Given the description of an element on the screen output the (x, y) to click on. 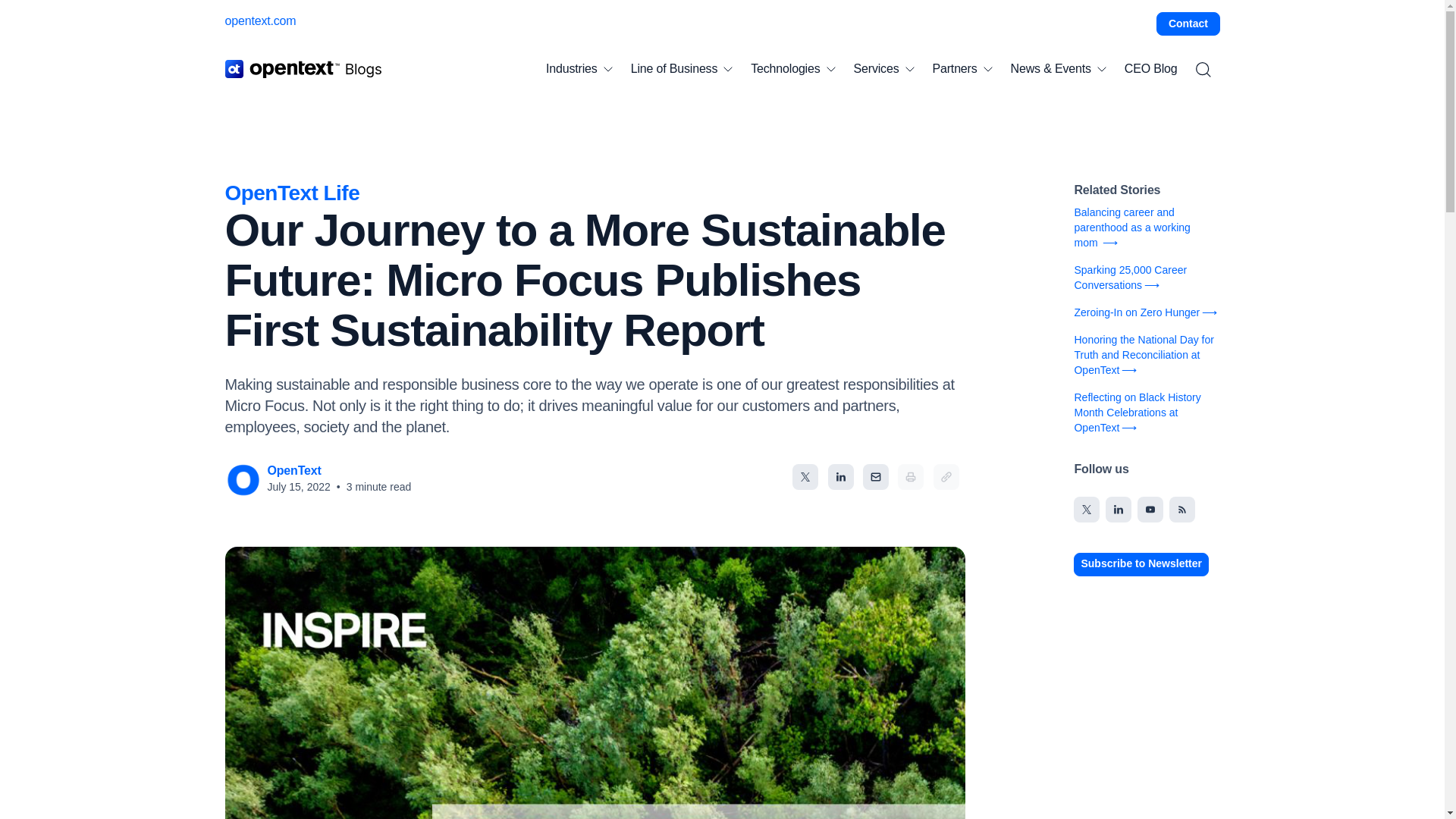
OpenText blogs home page (302, 68)
Contact (1188, 24)
opentext.com (259, 20)
Industries (579, 69)
Technologies (792, 69)
Line of Business (681, 69)
